Given the description of an element on the screen output the (x, y) to click on. 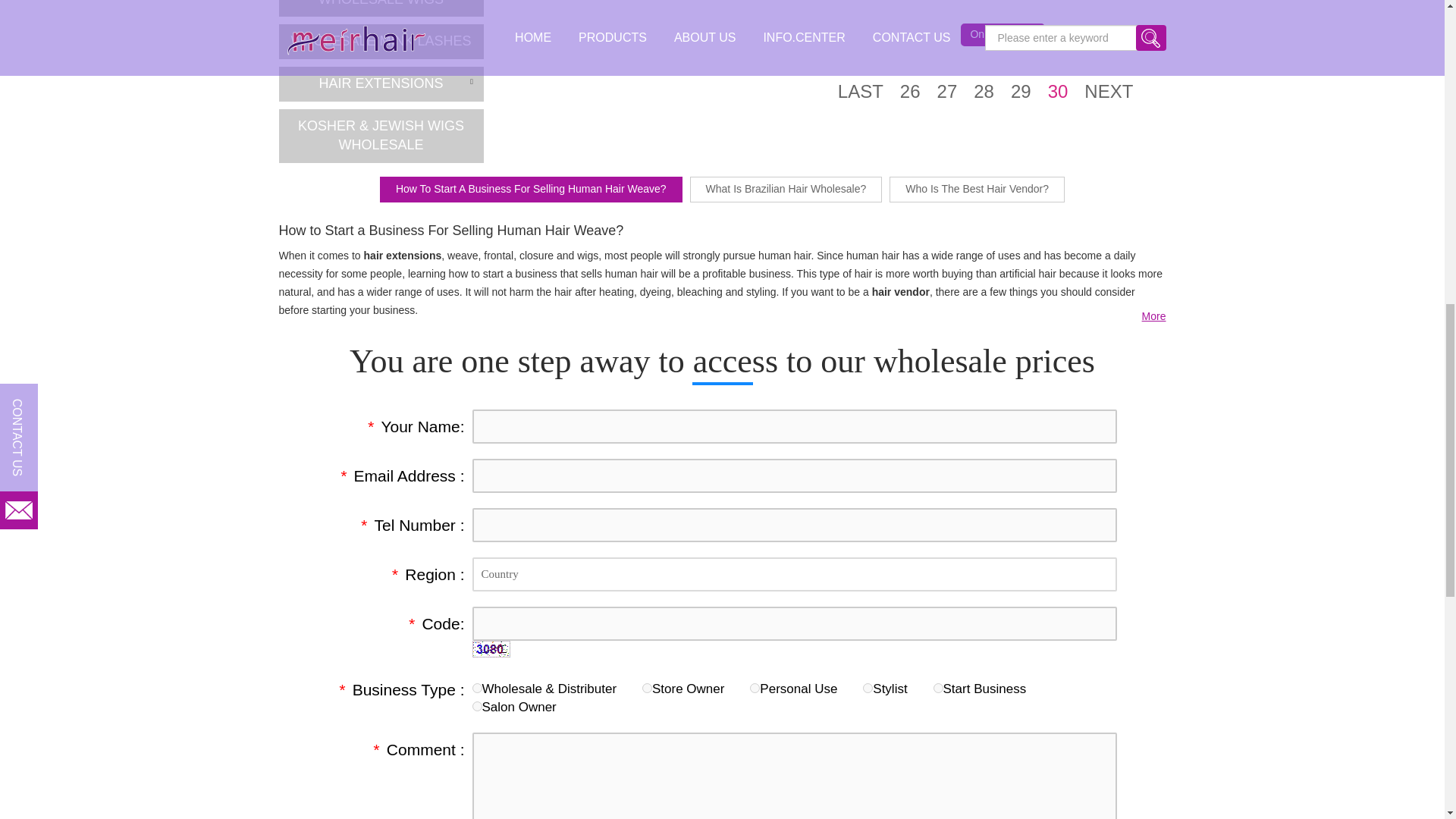
Store Owner (647, 687)
Salon Owner (476, 706)
Start Business (938, 687)
Stylist (867, 687)
Personal Use (754, 687)
